Given the description of an element on the screen output the (x, y) to click on. 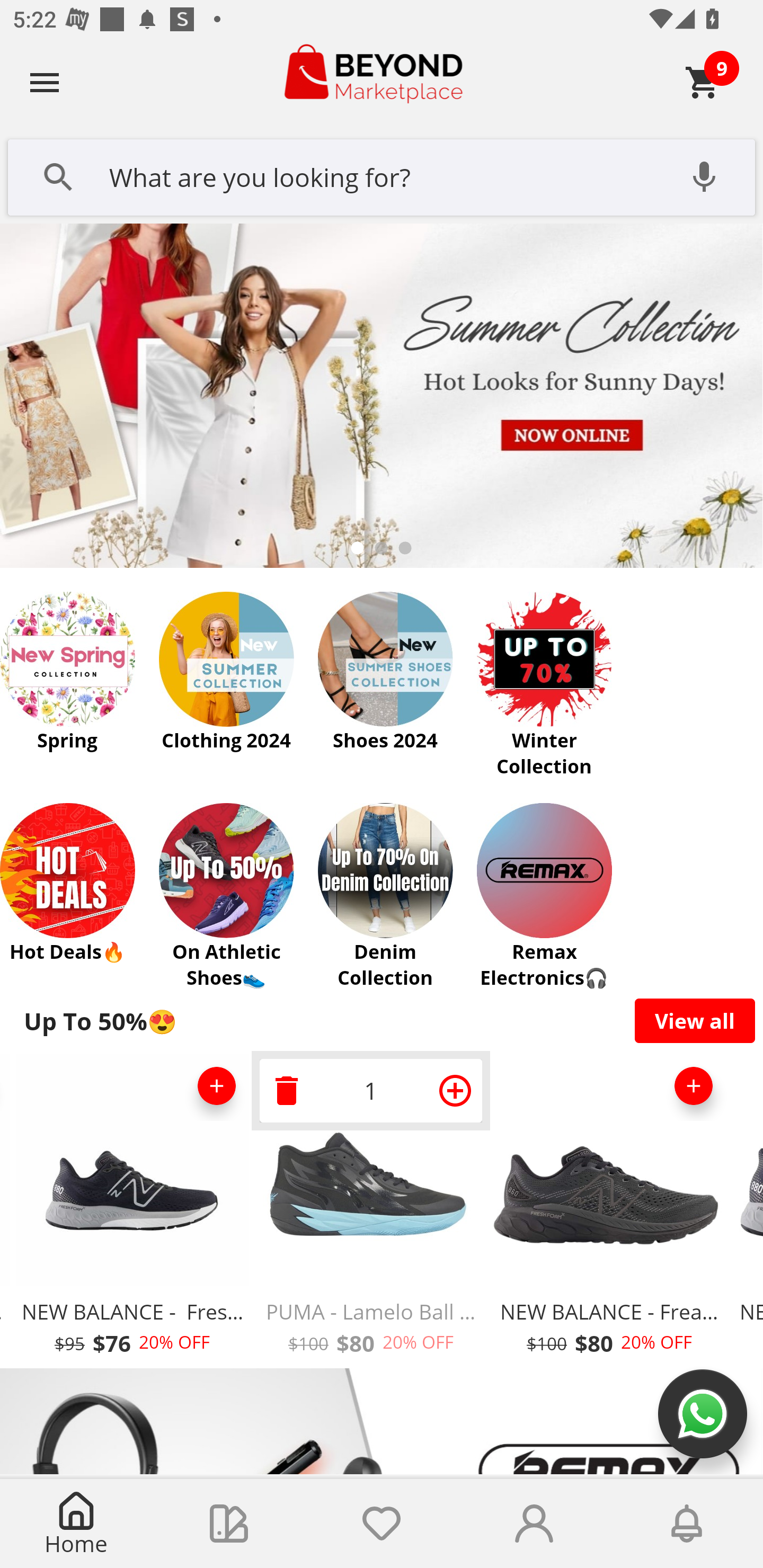
Navigate up (44, 82)
What are you looking for? (381, 175)
View all (694, 1020)
NEW BALANCE -  Fresh Foam X 880 $95 $76 20% OFF (131, 1209)
1 PUMA - Lamelo Ball MB.02 Phenom $100 $80 20% OFF (370, 1209)
1 (370, 1090)
Collections (228, 1523)
Wishlist (381, 1523)
Account (533, 1523)
Notifications (686, 1523)
